Given the description of an element on the screen output the (x, y) to click on. 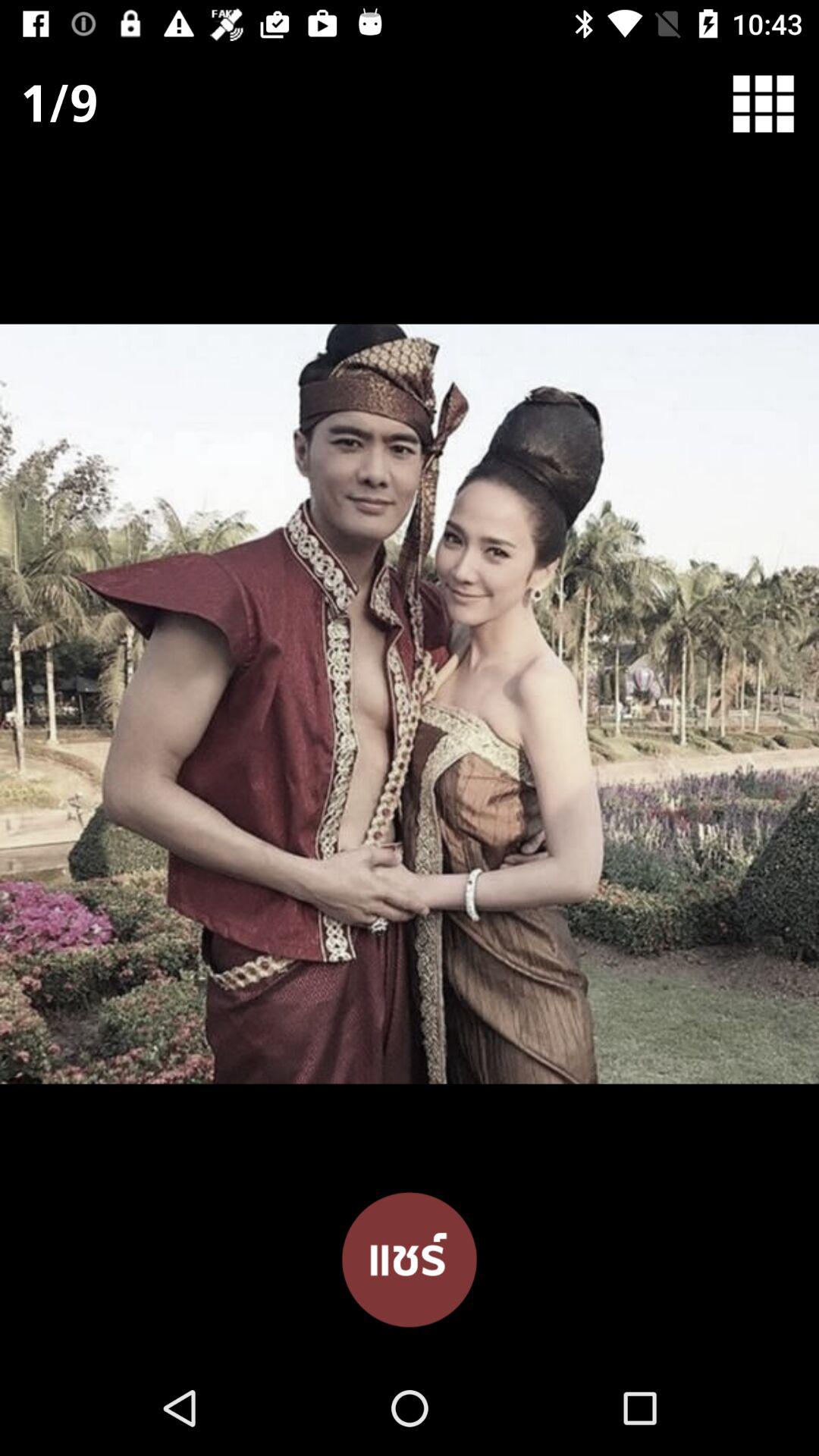
open item at the top right corner (773, 103)
